Given the description of an element on the screen output the (x, y) to click on. 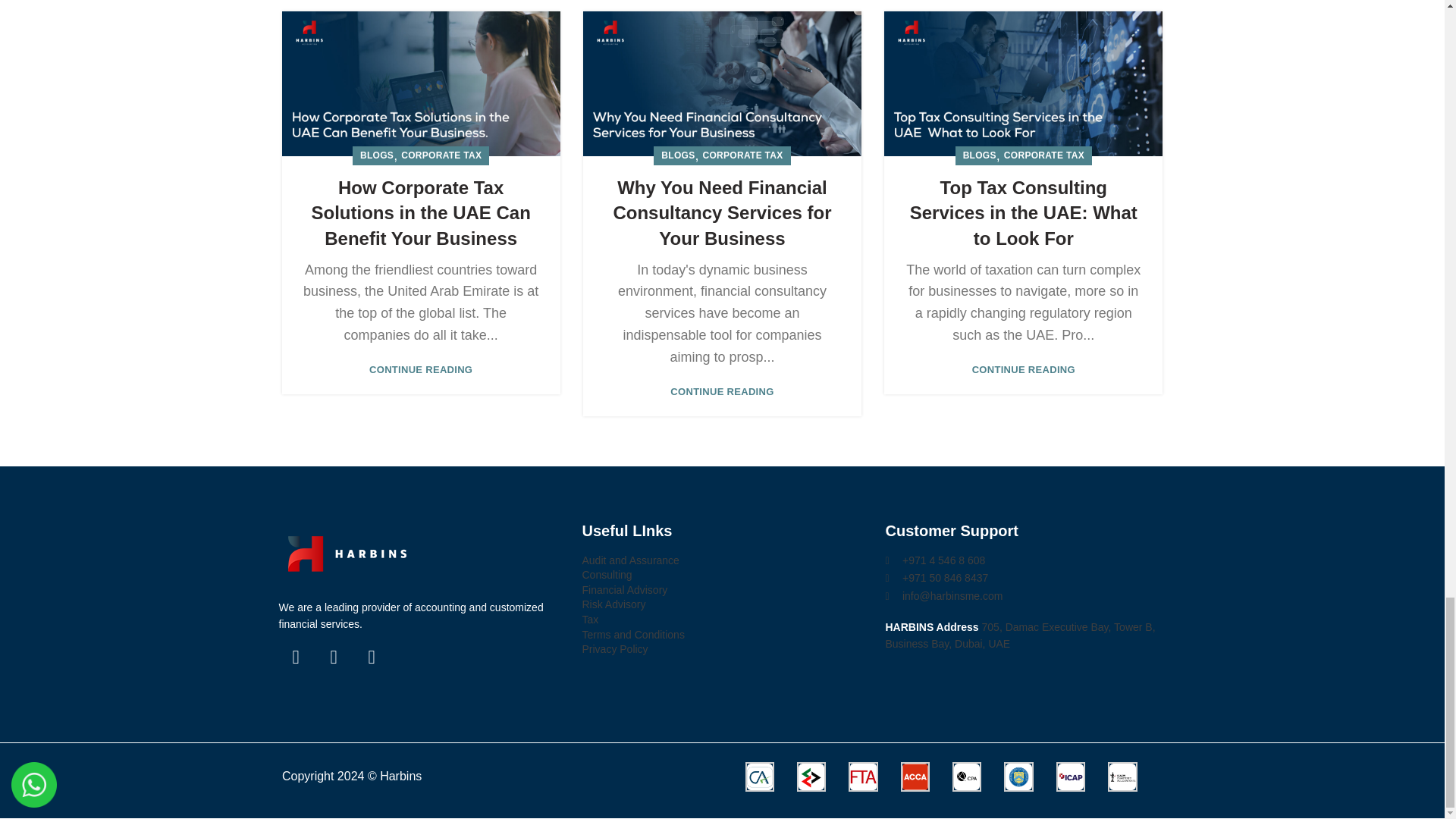
BLOGS (376, 155)
CORPORATE TAX (441, 155)
